Given the description of an element on the screen output the (x, y) to click on. 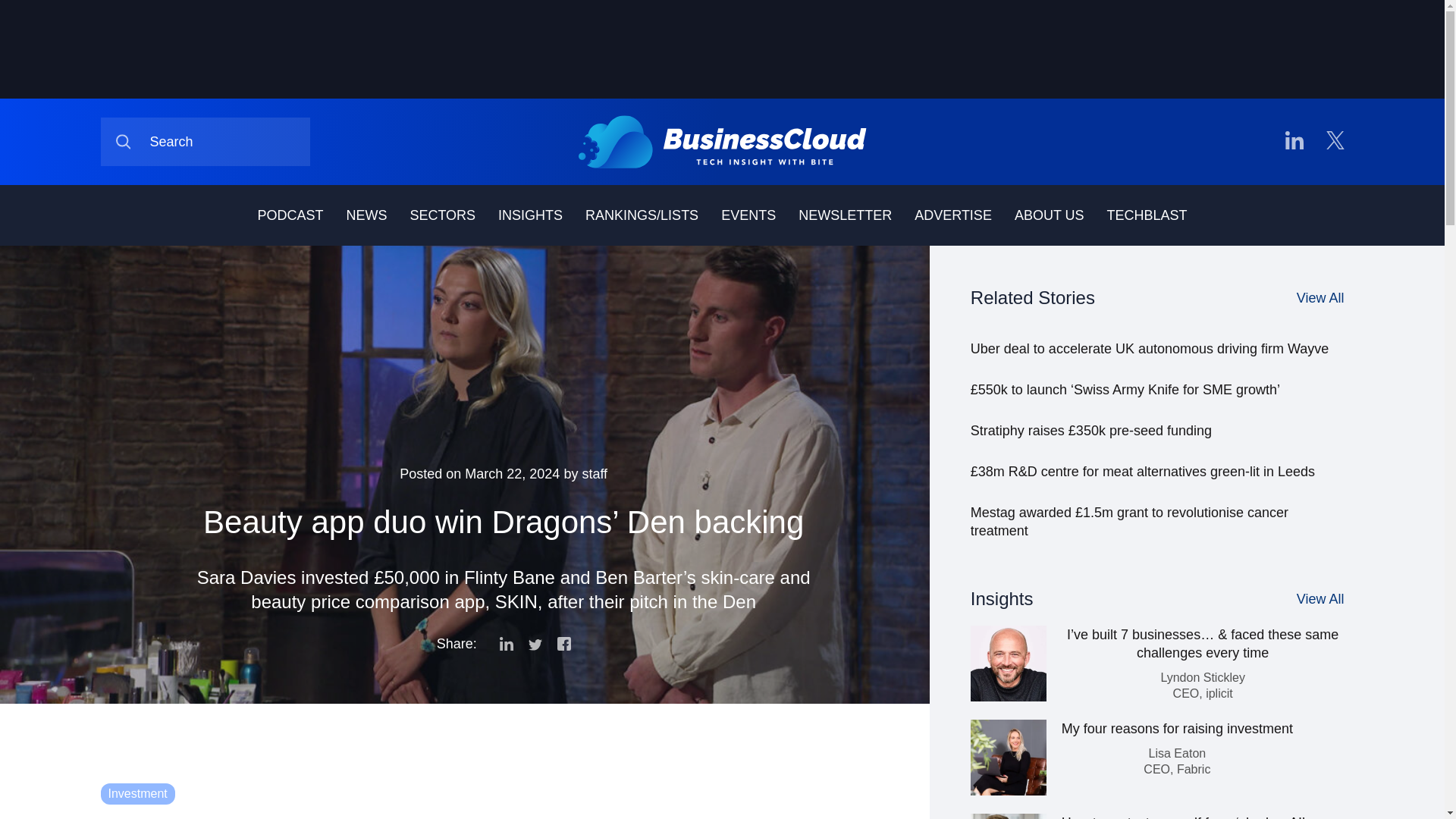
NEWSLETTER (844, 215)
ABOUT US (1049, 215)
Investment (137, 793)
SECTORS (442, 215)
NEWS (366, 215)
Search for: (204, 141)
EVENTS (748, 215)
INSIGHTS (529, 215)
TECHBLAST (1147, 215)
PODCAST (290, 215)
